Given the description of an element on the screen output the (x, y) to click on. 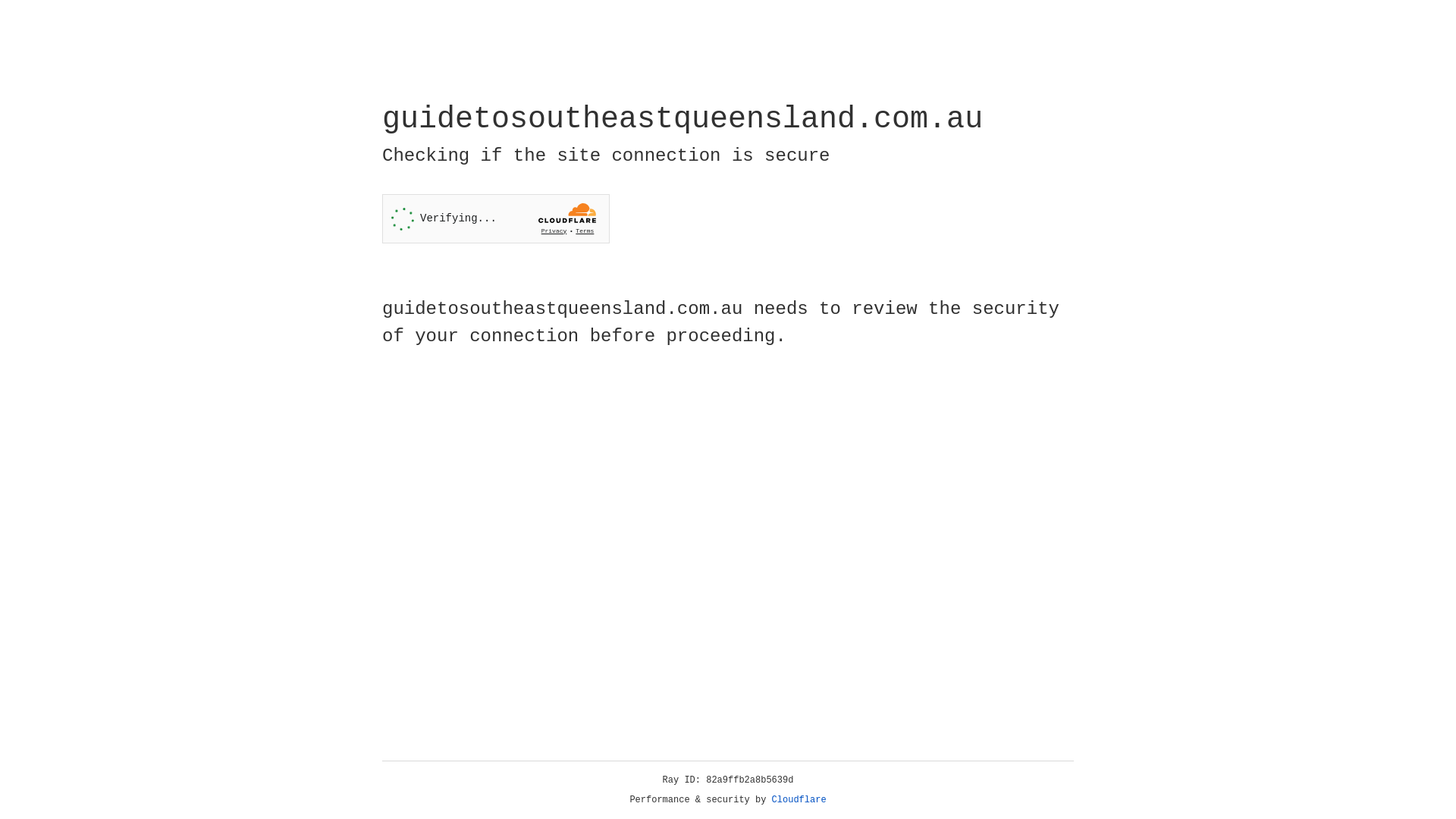
Widget containing a Cloudflare security challenge Element type: hover (495, 218)
Cloudflare Element type: text (798, 799)
